Given the description of an element on the screen output the (x, y) to click on. 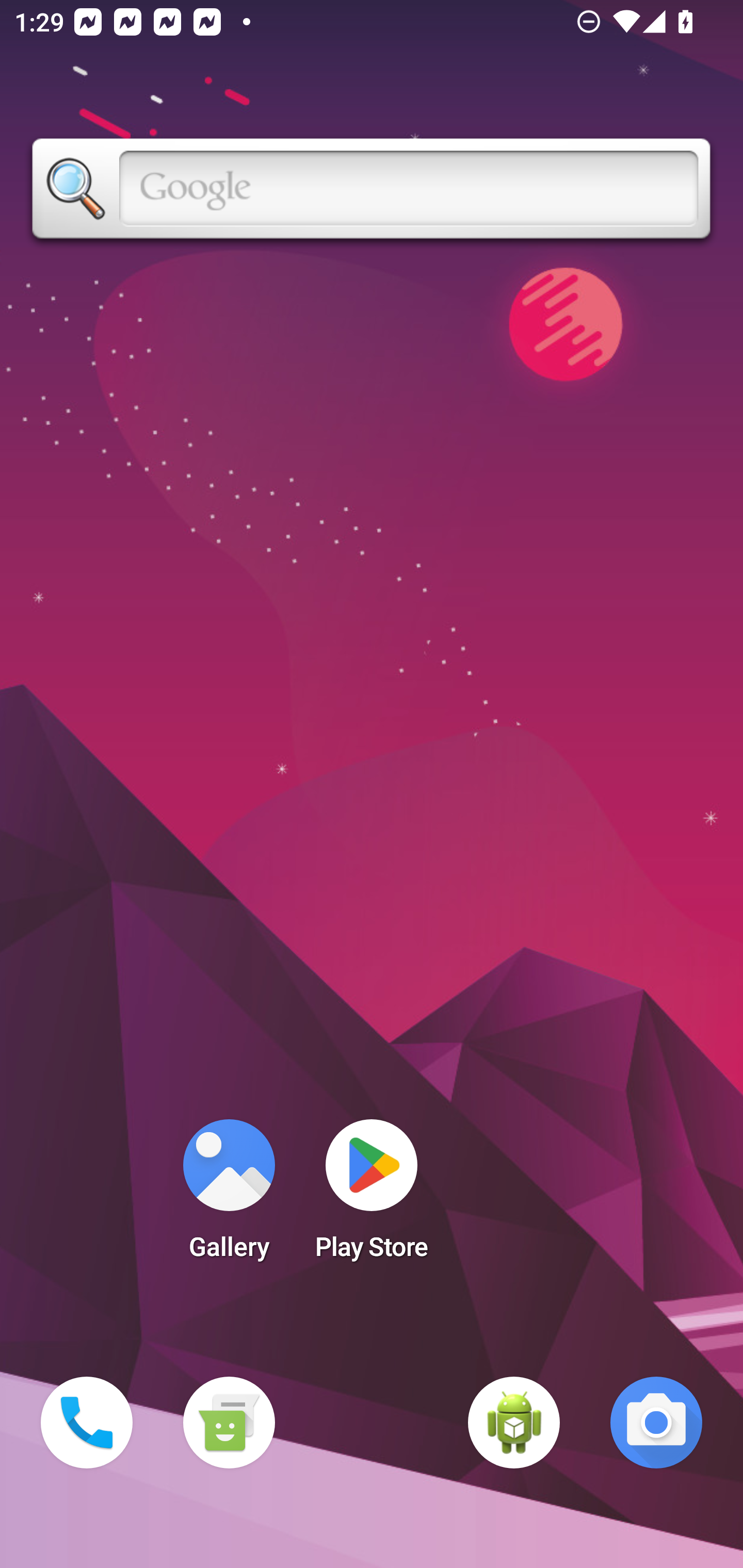
Gallery (228, 1195)
Play Store (371, 1195)
Phone (86, 1422)
Messaging (228, 1422)
WebView Browser Tester (513, 1422)
Camera (656, 1422)
